Given the description of an element on the screen output the (x, y) to click on. 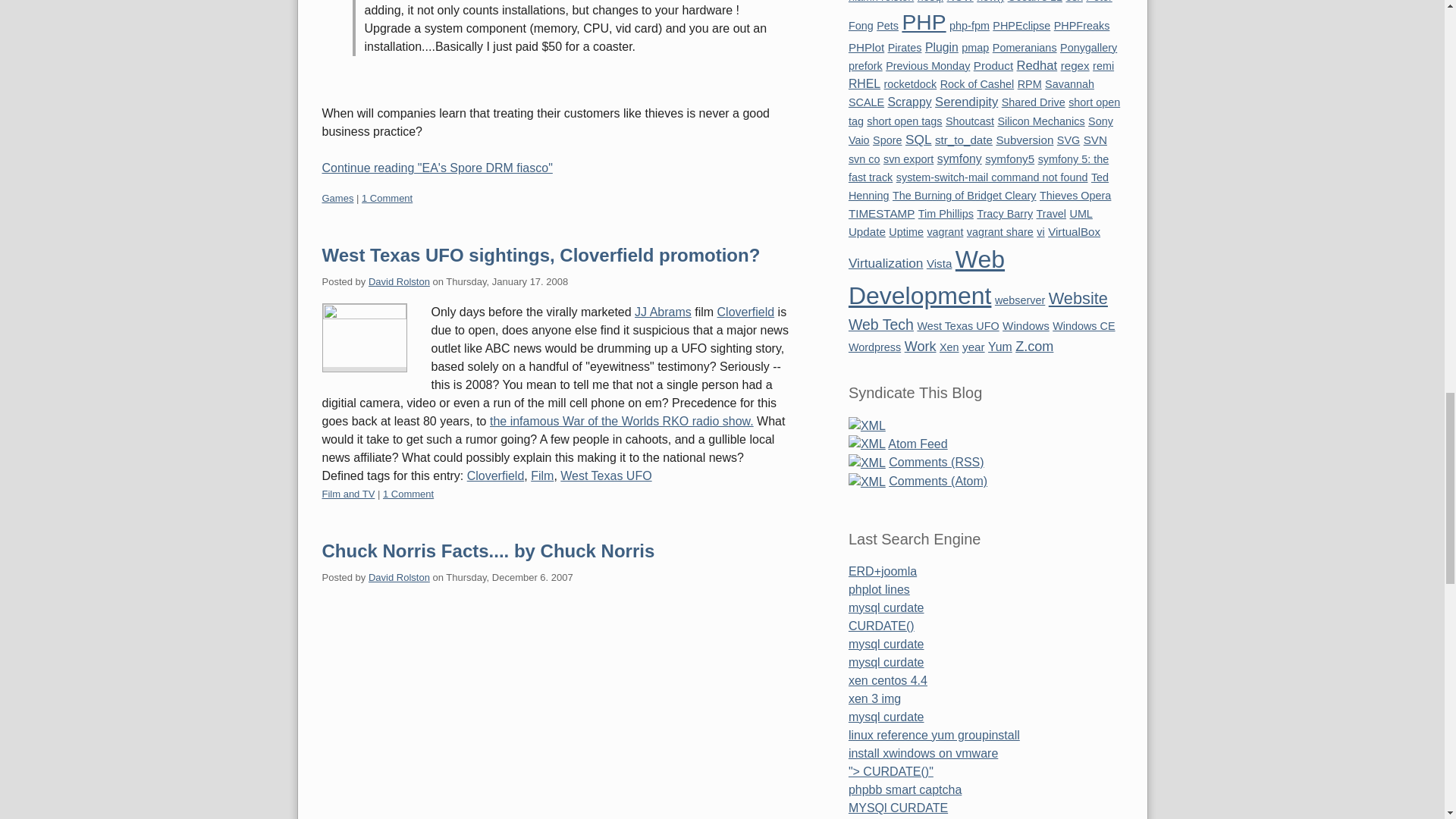
Film (542, 475)
Continue reading "EA's Spore DRM fiasco" (560, 167)
Chuck Norris Facts.... by Chuck Norris (487, 550)
Bad Robot productions (662, 311)
Film and TV (347, 493)
Games (337, 197)
Cloverfield (495, 475)
the infamous War of the Worlds RKO radio show. (621, 420)
West Texas UFO (605, 475)
West Texas UFO (605, 475)
1 Comment, 0 Trackbacks (407, 493)
War of the worlds (621, 420)
West Texas UFO sightings, Cloverfield promotion? (540, 254)
1 Comment (386, 197)
Cloverfield official site (745, 311)
